Given the description of an element on the screen output the (x, y) to click on. 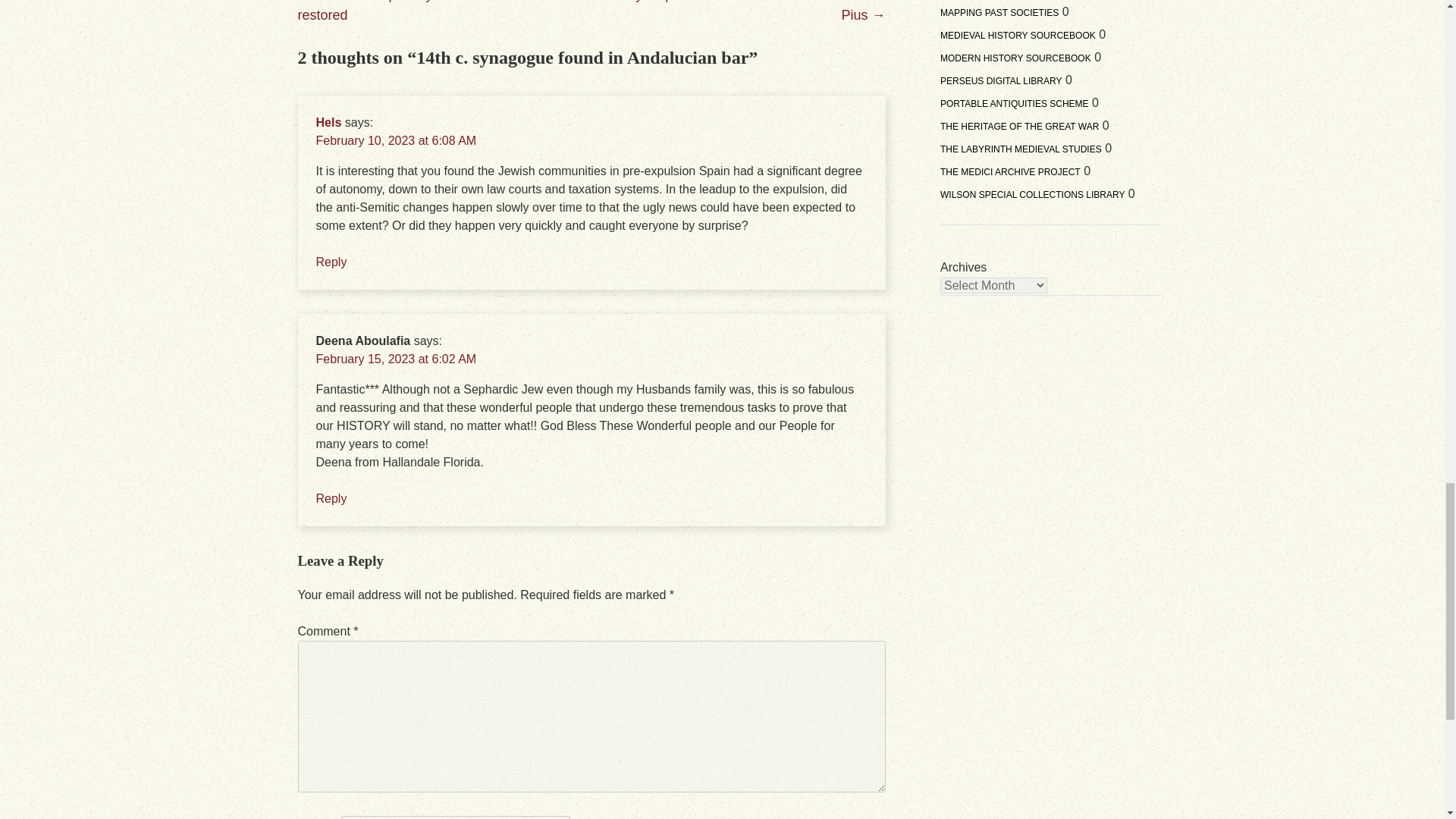
February 10, 2023 at 6:08 AM (395, 140)
Reply (330, 261)
Hels (327, 122)
Reply (330, 498)
February 15, 2023 at 6:02 AM (395, 358)
